Given the description of an element on the screen output the (x, y) to click on. 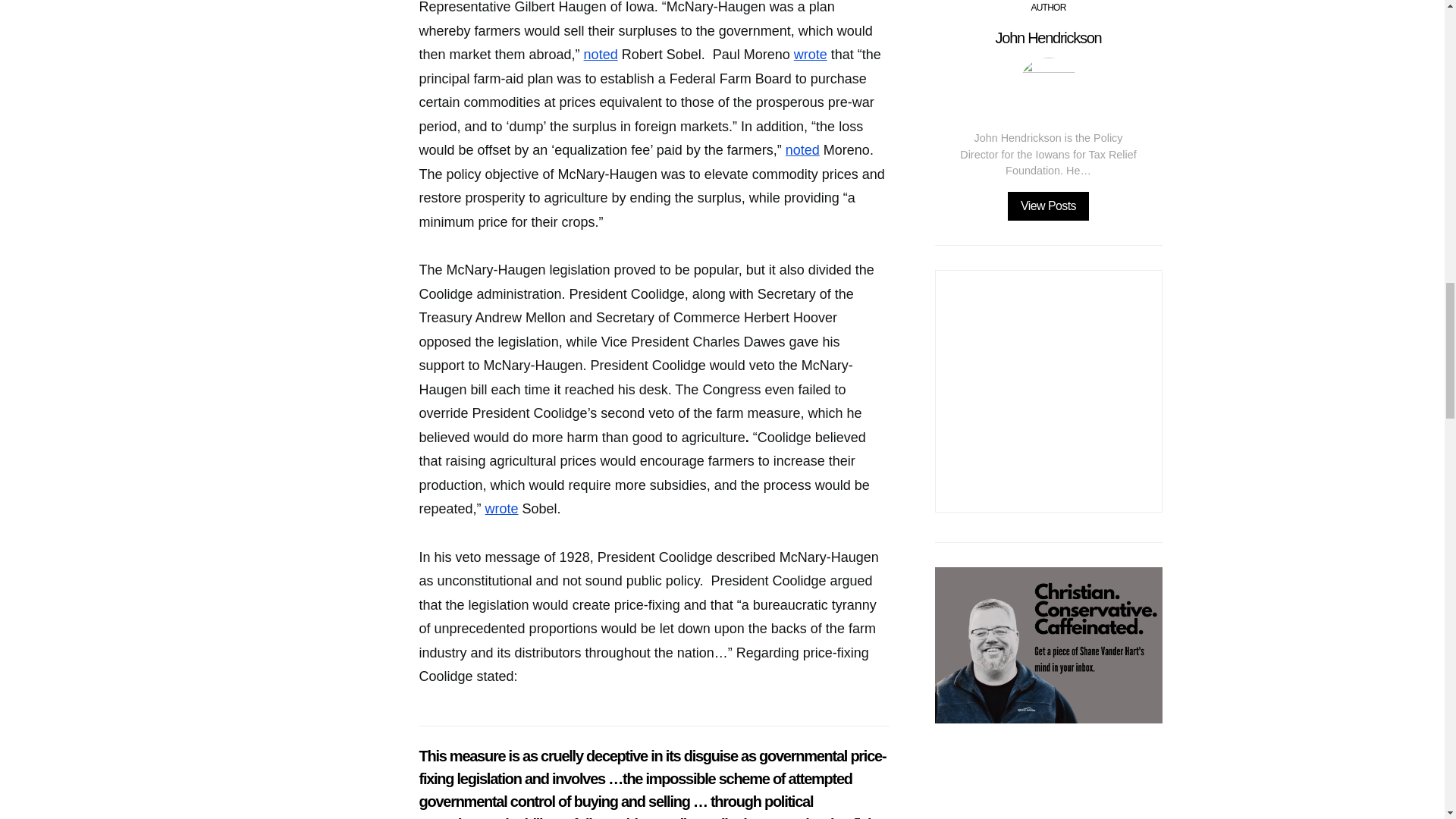
noted (600, 54)
noted (802, 150)
wrote (810, 54)
wrote (501, 508)
